Given the description of an element on the screen output the (x, y) to click on. 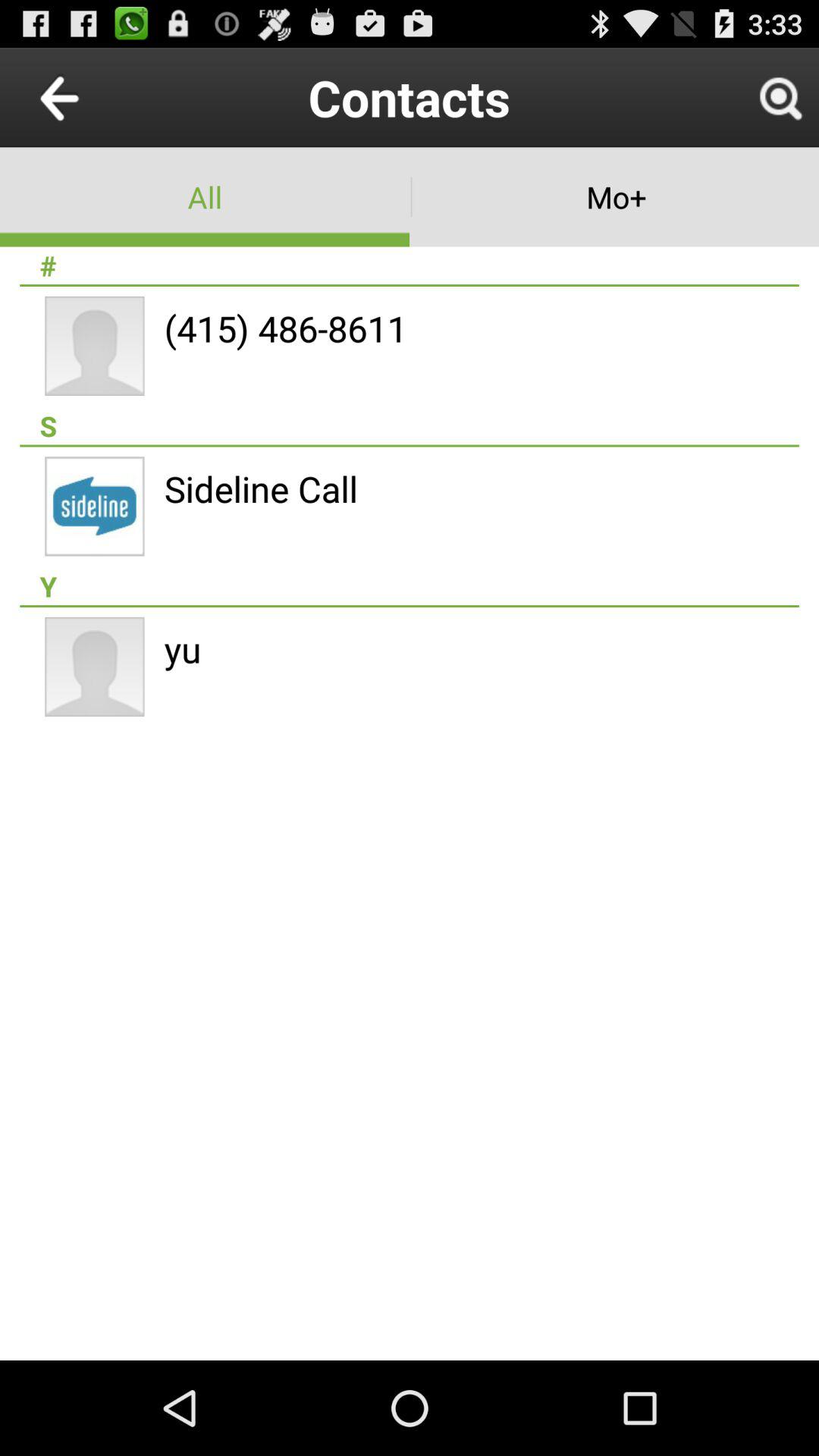
flip until the yu item (182, 649)
